Given the description of an element on the screen output the (x, y) to click on. 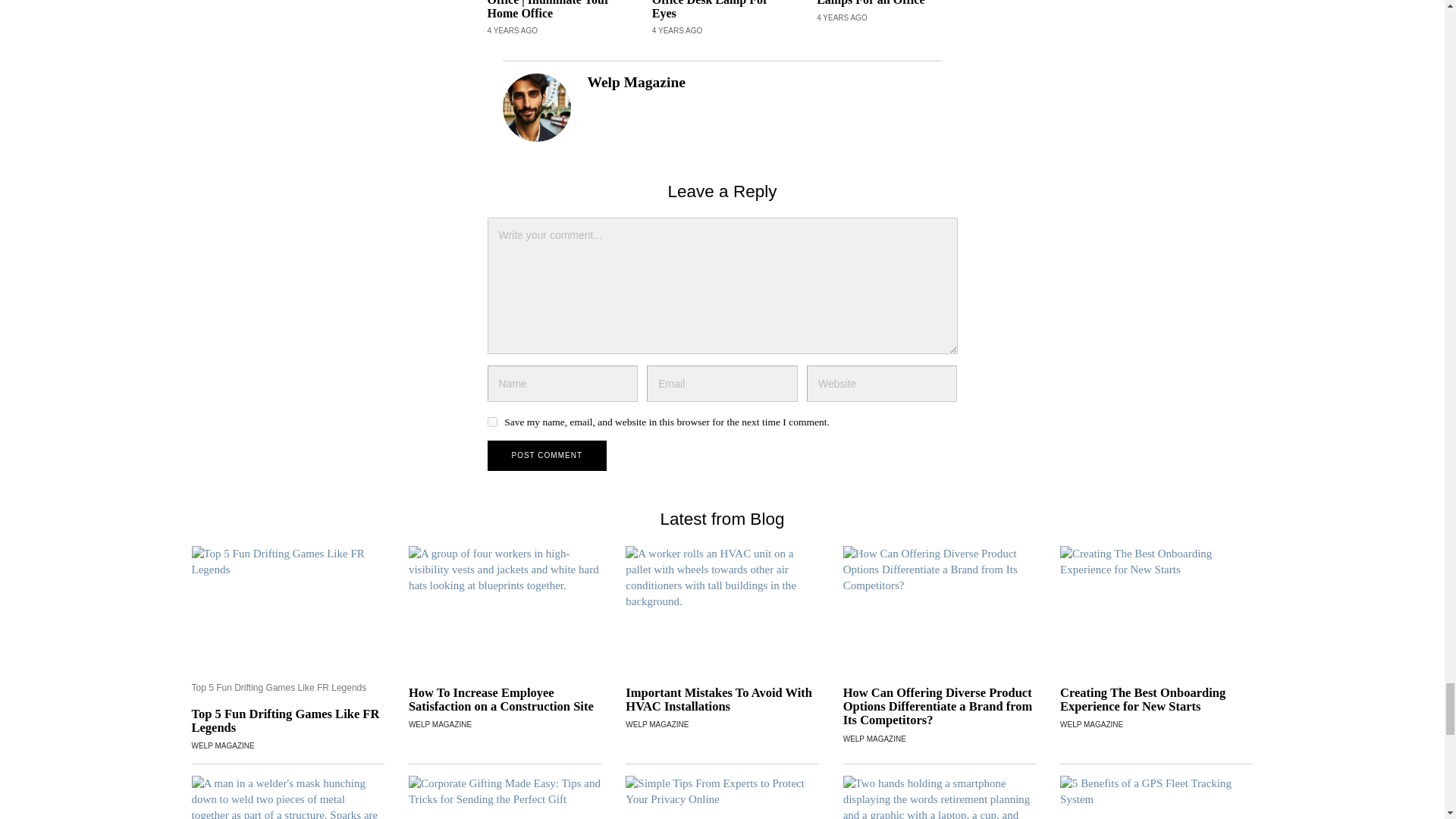
yes (491, 421)
06 Nov, 2020 08:00:04 (841, 18)
10 Nov, 2020 16:00:43 (511, 30)
07 Nov, 2020 11:00:52 (677, 30)
Post Comment (545, 455)
